Given the description of an element on the screen output the (x, y) to click on. 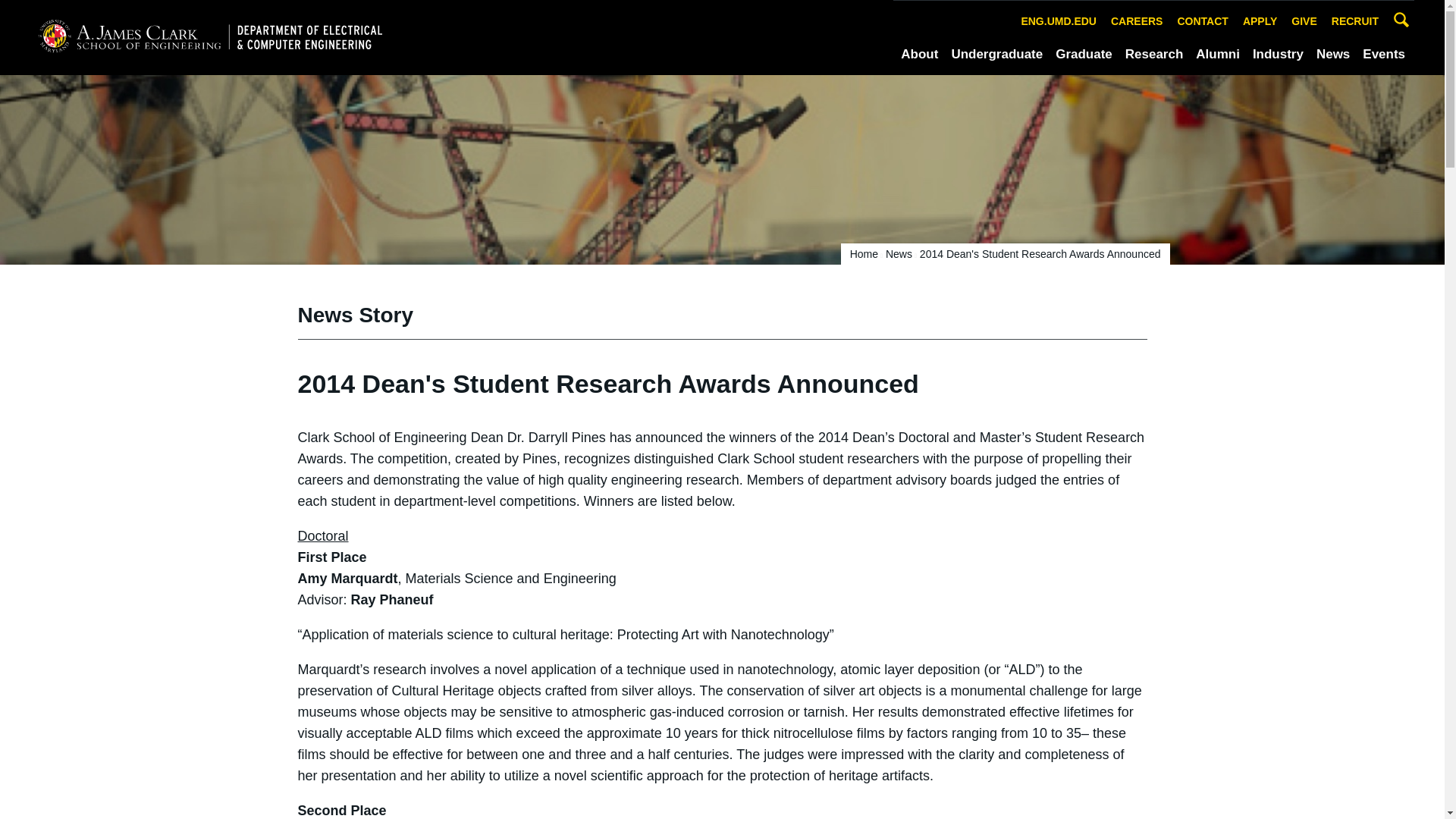
About (919, 54)
A. James Clark School of Engineering, University of Maryland (209, 36)
RECRUIT (1355, 22)
APPLY (1259, 22)
CAREERS (1136, 22)
GIVE (1303, 22)
CONTACT (1202, 22)
Undergraduate (996, 54)
ENG.UMD.EDU (1058, 22)
